Given the description of an element on the screen output the (x, y) to click on. 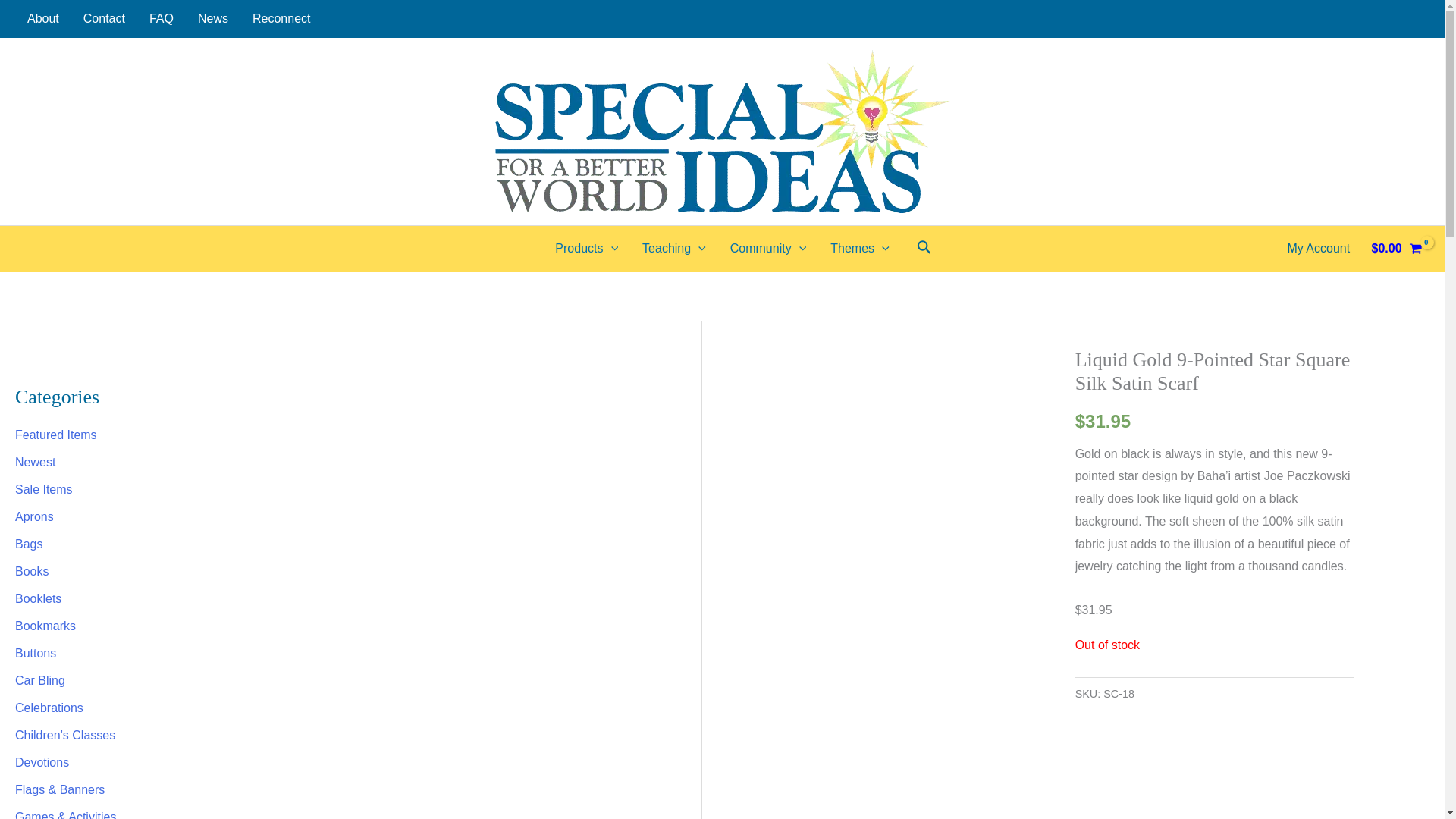
News (213, 18)
Contact (103, 18)
Reconnect (281, 18)
Products (586, 248)
About (42, 18)
FAQ (161, 18)
